Given the description of an element on the screen output the (x, y) to click on. 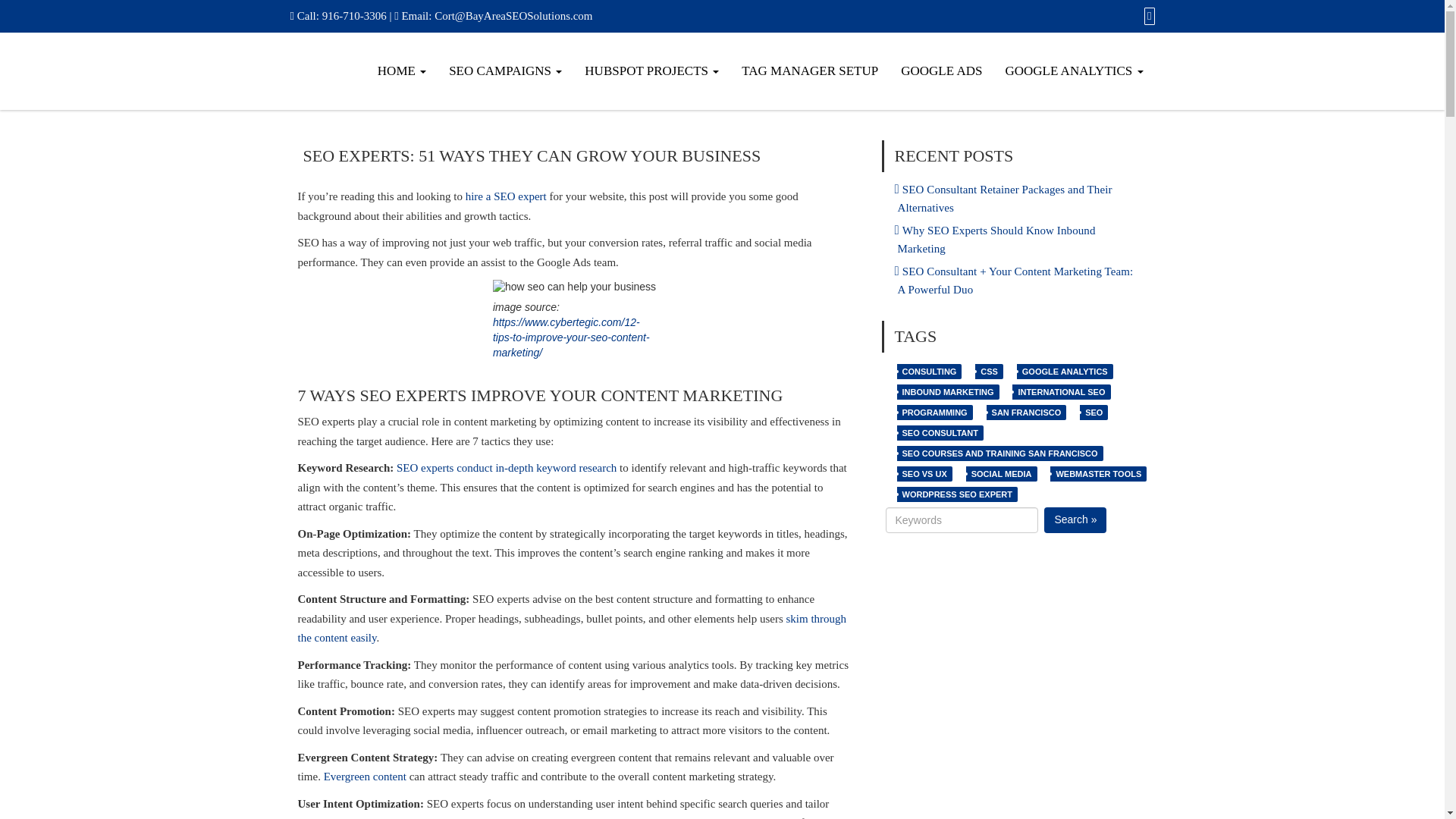
skim through the content easily (571, 628)
SEO experts conduct in-depth keyword research (505, 467)
HOME (402, 71)
GOOGLE ANALYTICS (1073, 71)
HUBSPOT PROJECTS (651, 71)
916-710-3306 (354, 15)
Evergreen content (364, 776)
SEO CAMPAIGNS (505, 71)
Linkedin (1147, 15)
TAG MANAGER SETUP (809, 71)
